Given the description of an element on the screen output the (x, y) to click on. 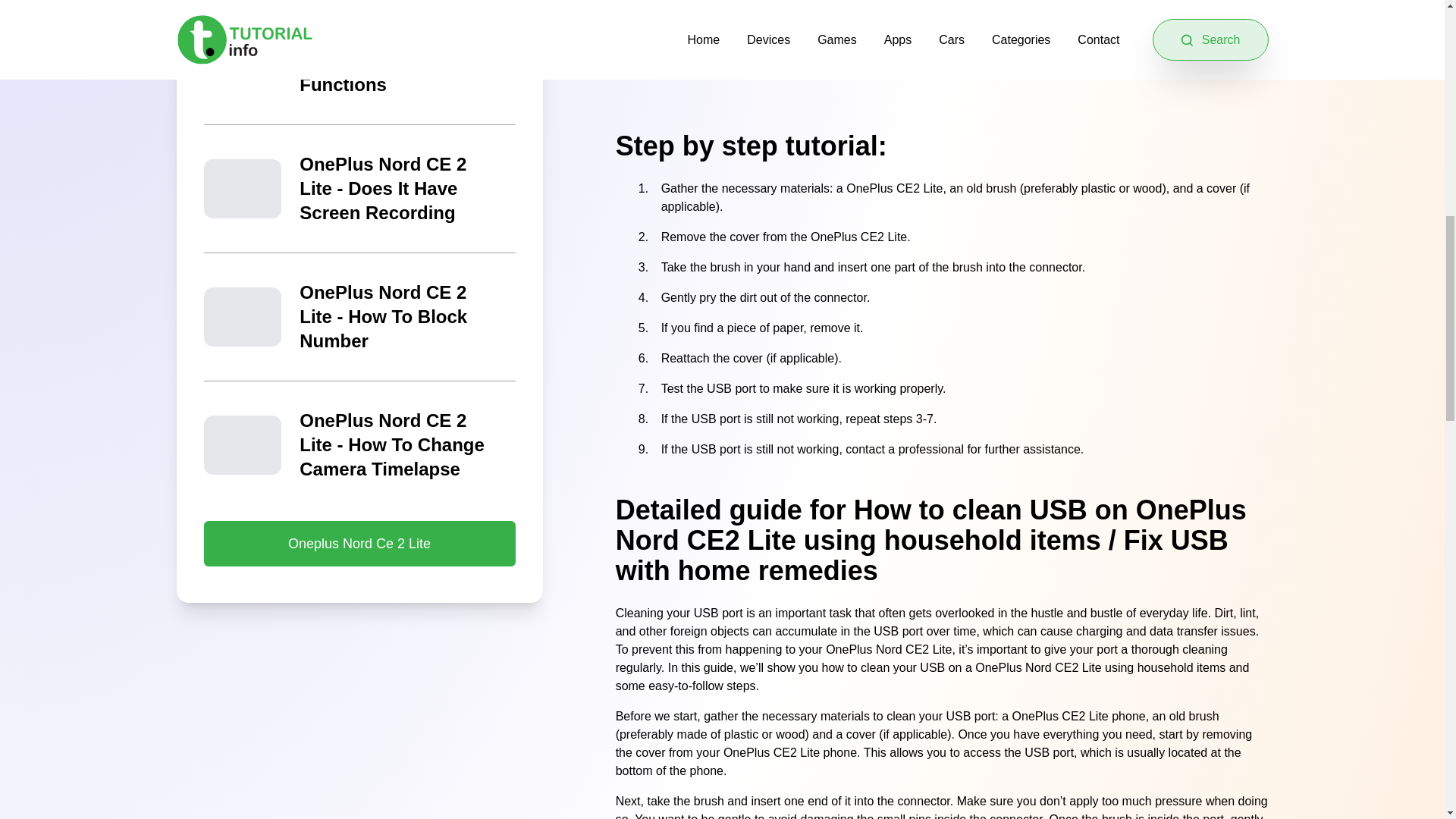
YouTube video player (941, 47)
